Given the description of an element on the screen output the (x, y) to click on. 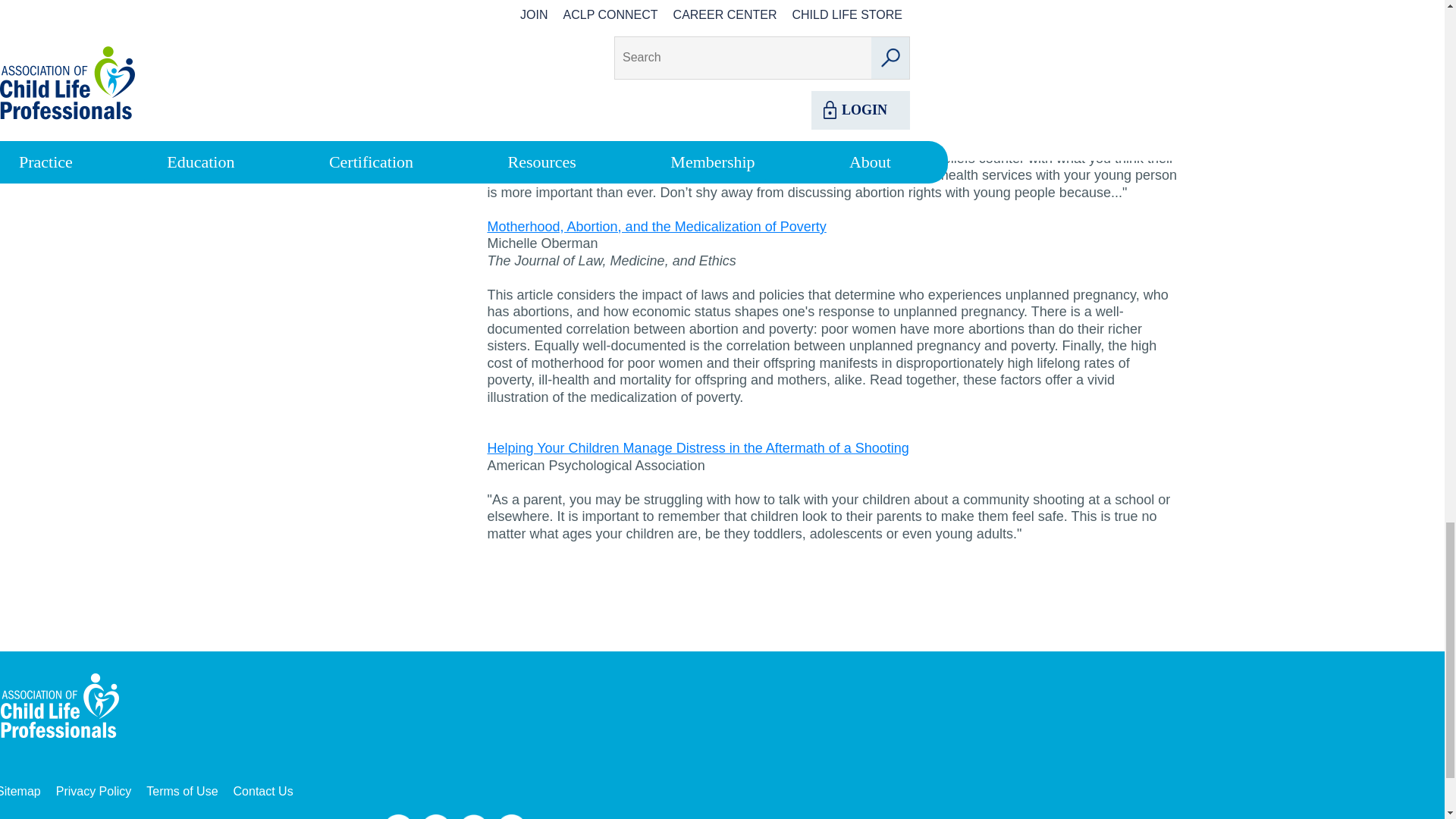
bgFootLogo (65, 707)
instagram (511, 816)
